Given the description of an element on the screen output the (x, y) to click on. 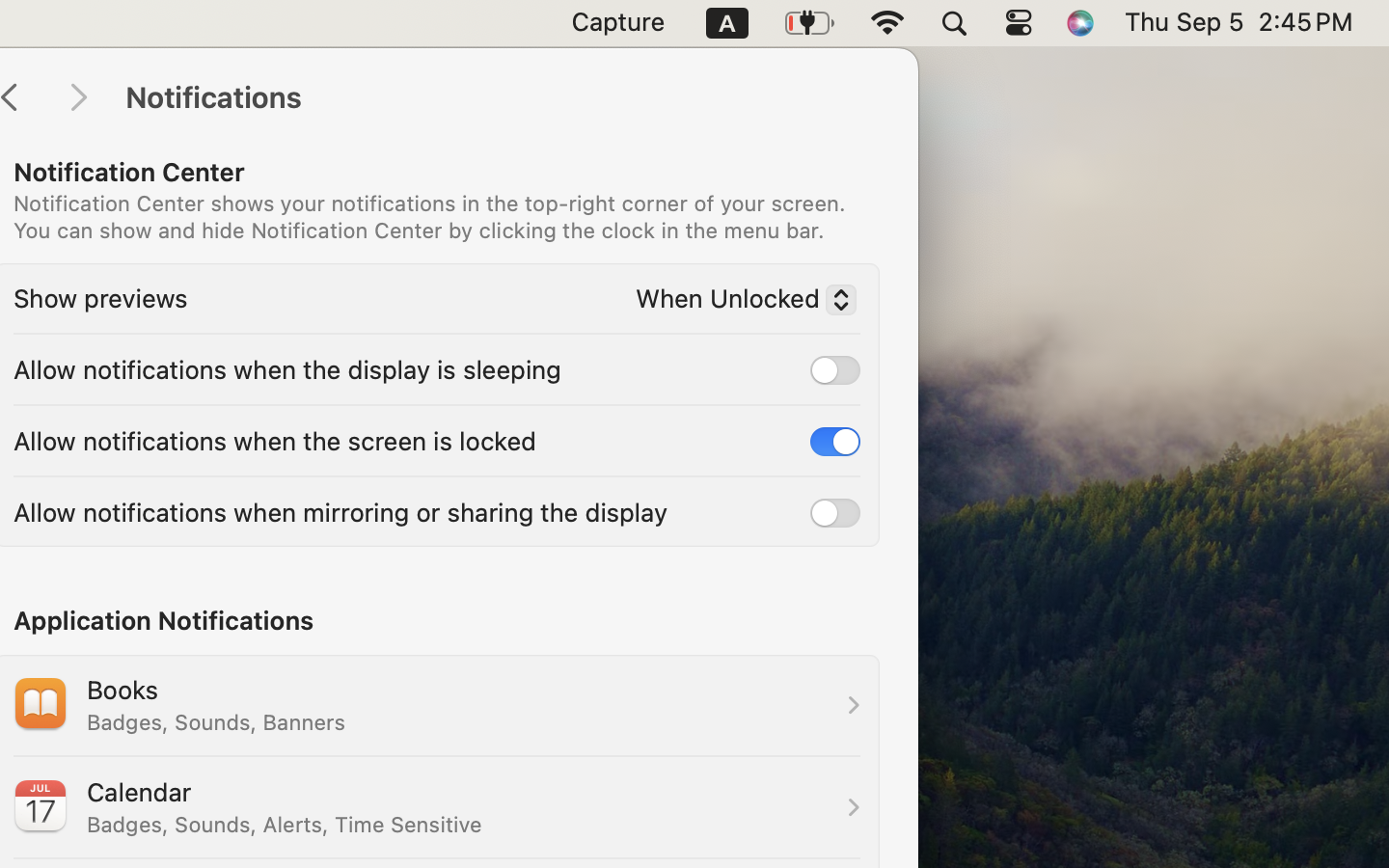
Notifications Element type: AXStaticText (501, 98)
When Unlocked Element type: AXPopUpButton (737, 301)
1 Element type: AXCheckBox (835, 440)
